Given the description of an element on the screen output the (x, y) to click on. 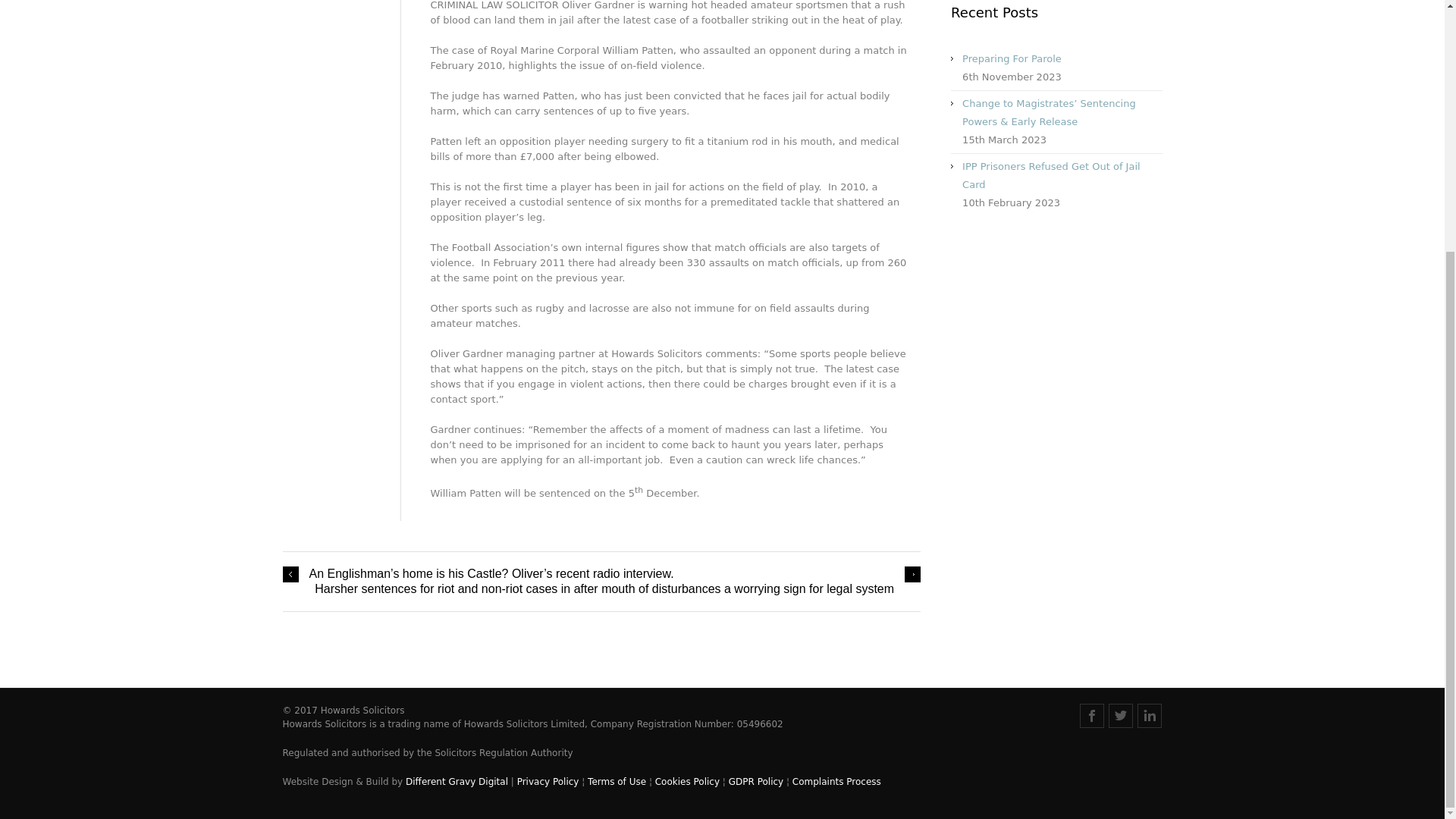
Preparing For Parole (1011, 58)
IPP Prisoners Refused Get Out of Jail Card (1051, 175)
